Given the description of an element on the screen output the (x, y) to click on. 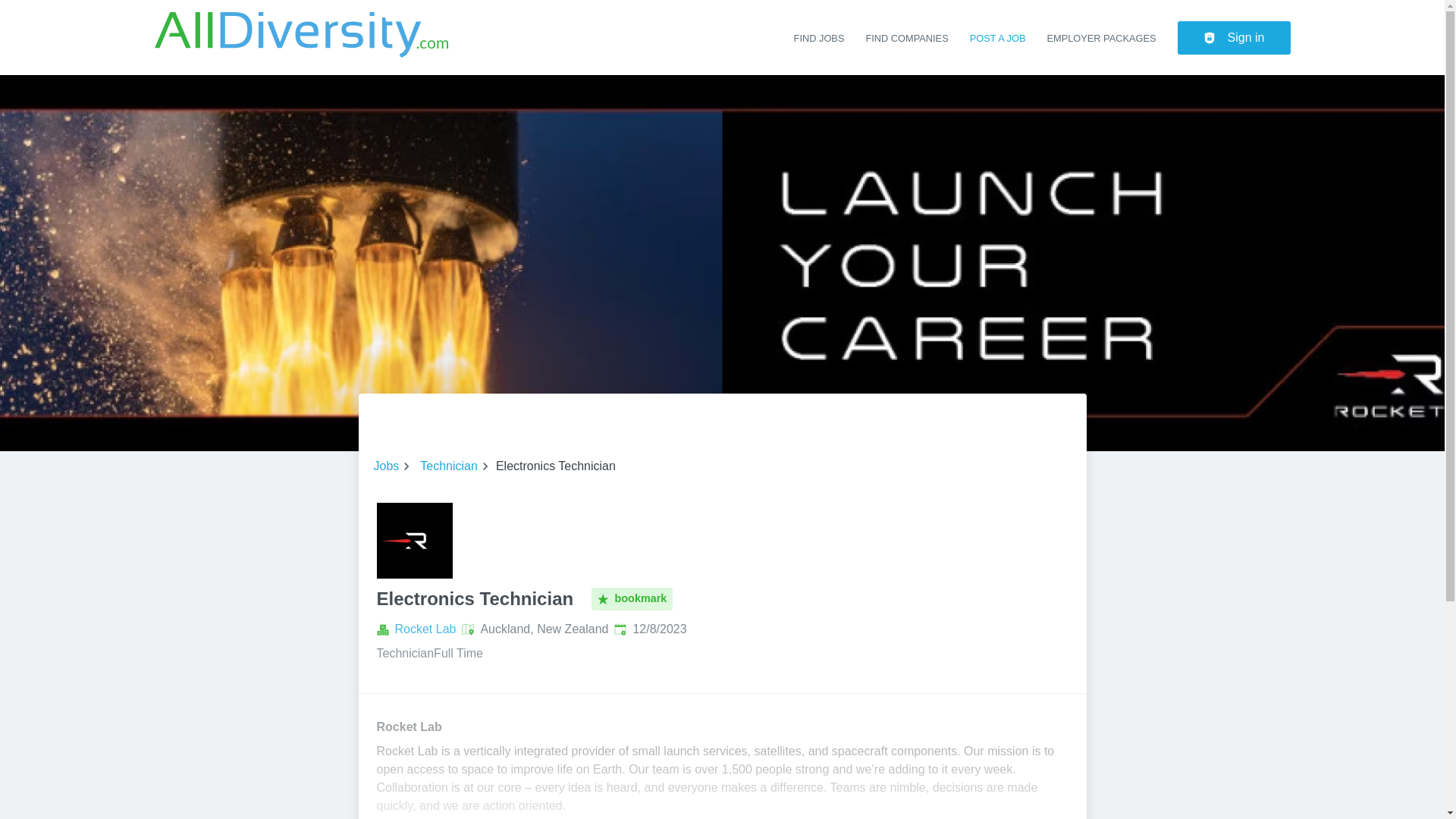
Sign in (1233, 37)
Rocket Lab (424, 628)
Jobs (385, 466)
POST A JOB (997, 37)
Electronics Technician (413, 540)
FIND COMPANIES (905, 37)
bookmark (631, 599)
bookmark (631, 599)
FIND JOBS (818, 37)
EMPLOYER PACKAGES (1101, 37)
Technician (448, 466)
